Given the description of an element on the screen output the (x, y) to click on. 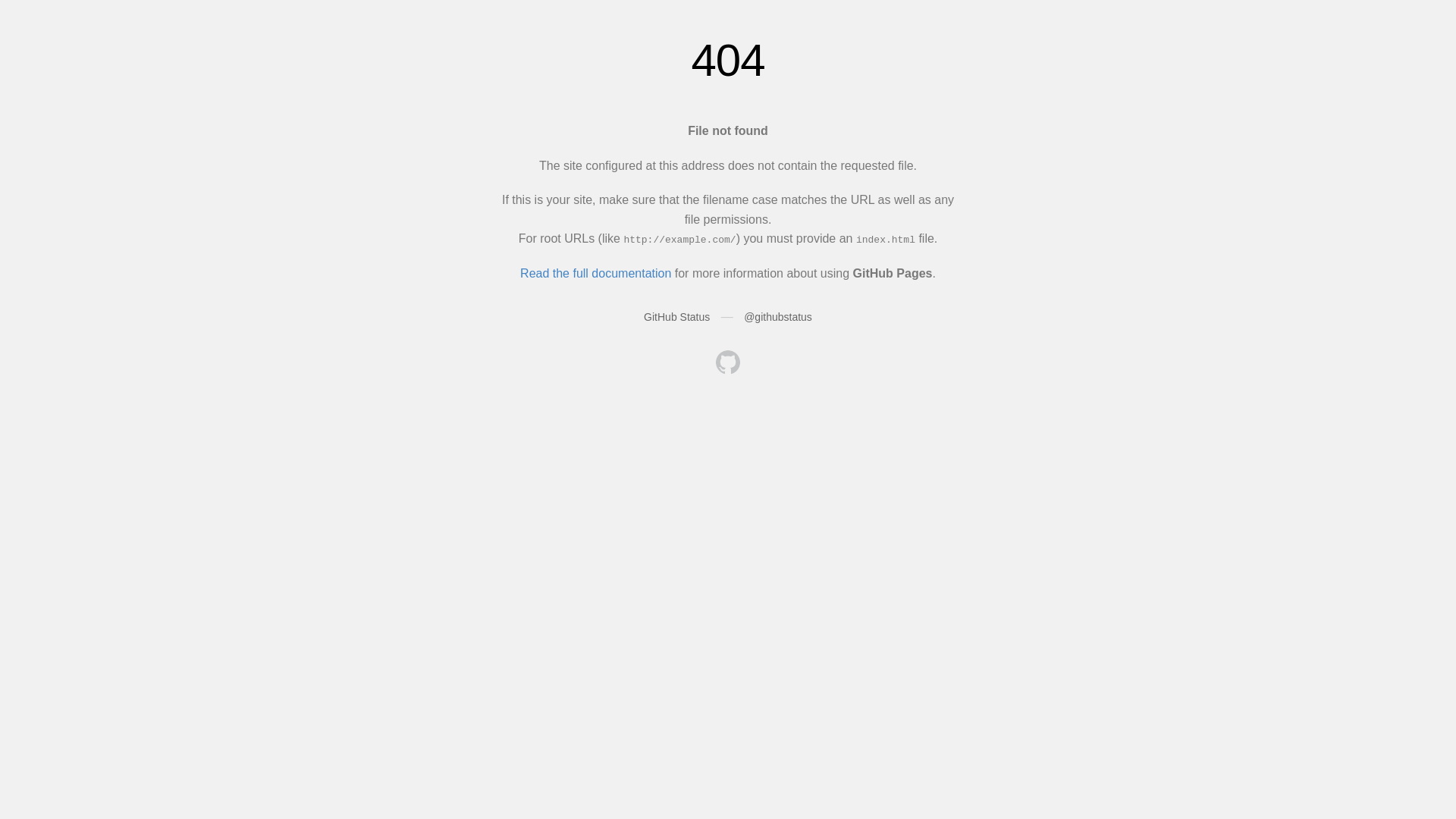
GitHub Status Element type: text (676, 316)
@githubstatus Element type: text (777, 316)
Read the full documentation Element type: text (595, 272)
